Given the description of an element on the screen output the (x, y) to click on. 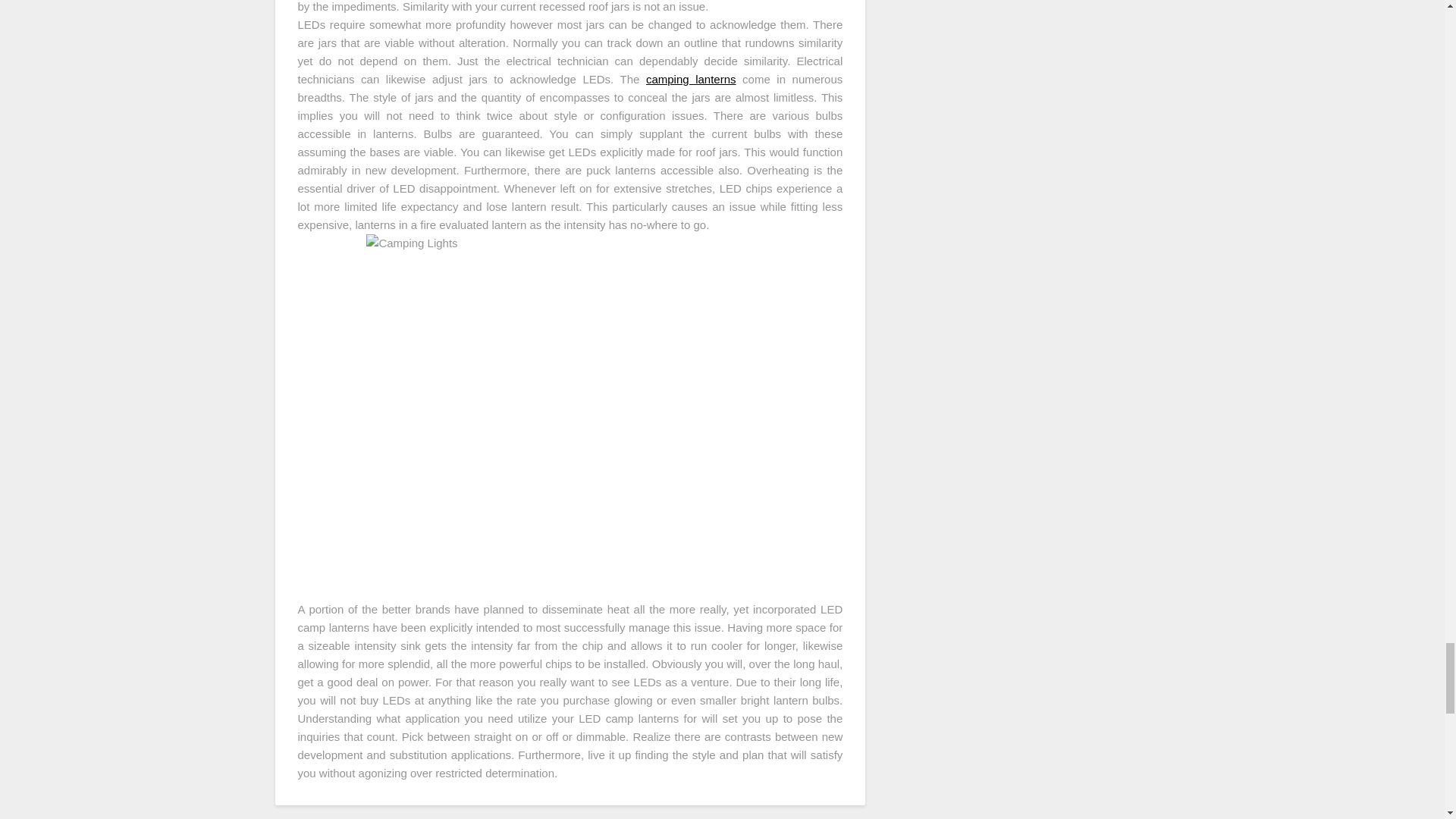
camping lanterns (691, 78)
